Given the description of an element on the screen output the (x, y) to click on. 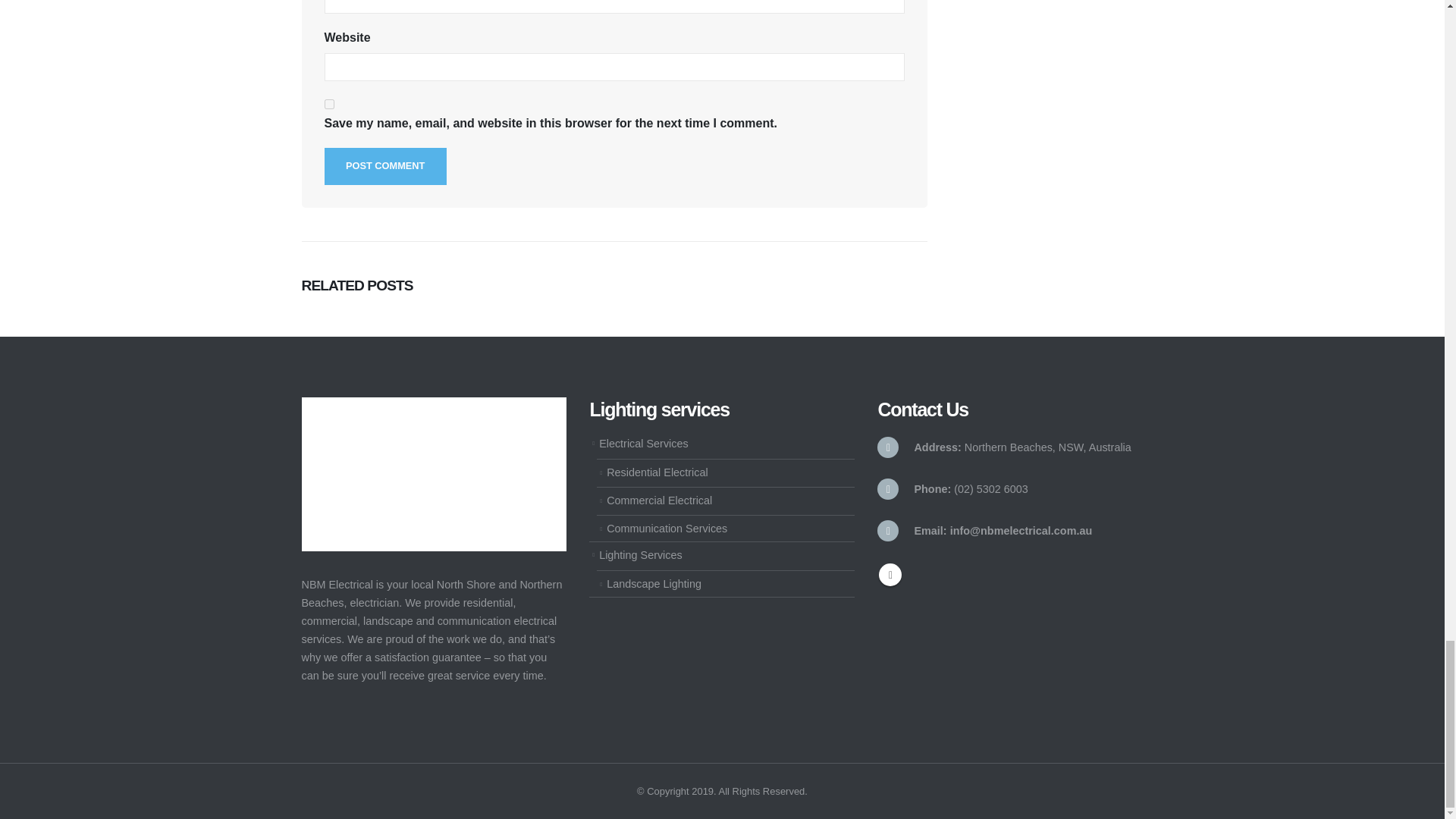
Post Comment (385, 166)
Facebook (890, 574)
yes (329, 103)
Post Comment (385, 166)
